Given the description of an element on the screen output the (x, y) to click on. 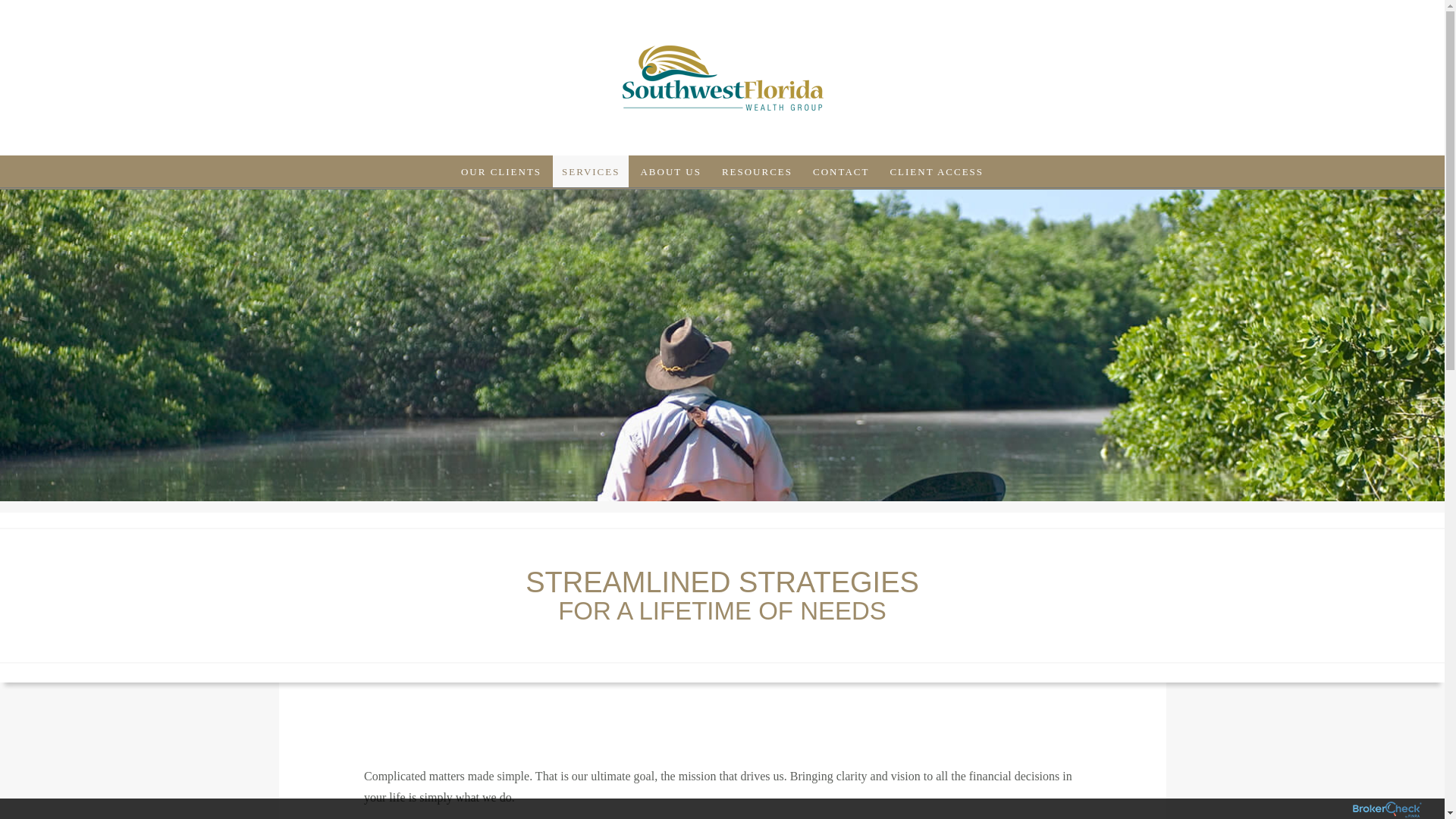
RESOURCES (757, 163)
ABOUT US (670, 160)
LOGIN (894, 217)
SERVICES (590, 154)
CONTACT (840, 164)
CLIENT ACCESS (936, 164)
